Given the description of an element on the screen output the (x, y) to click on. 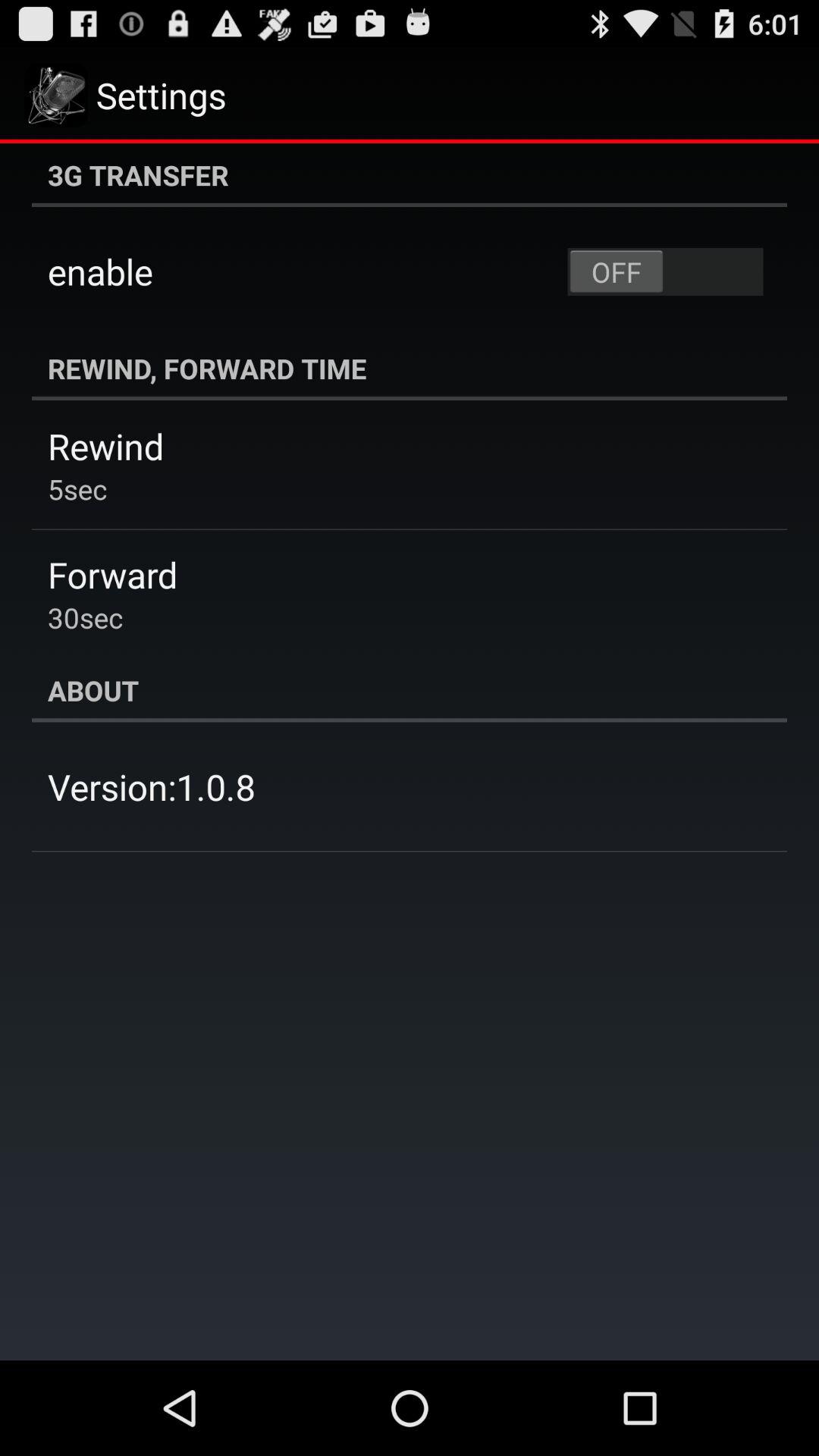
select the 3g transfer icon (409, 175)
